Given the description of an element on the screen output the (x, y) to click on. 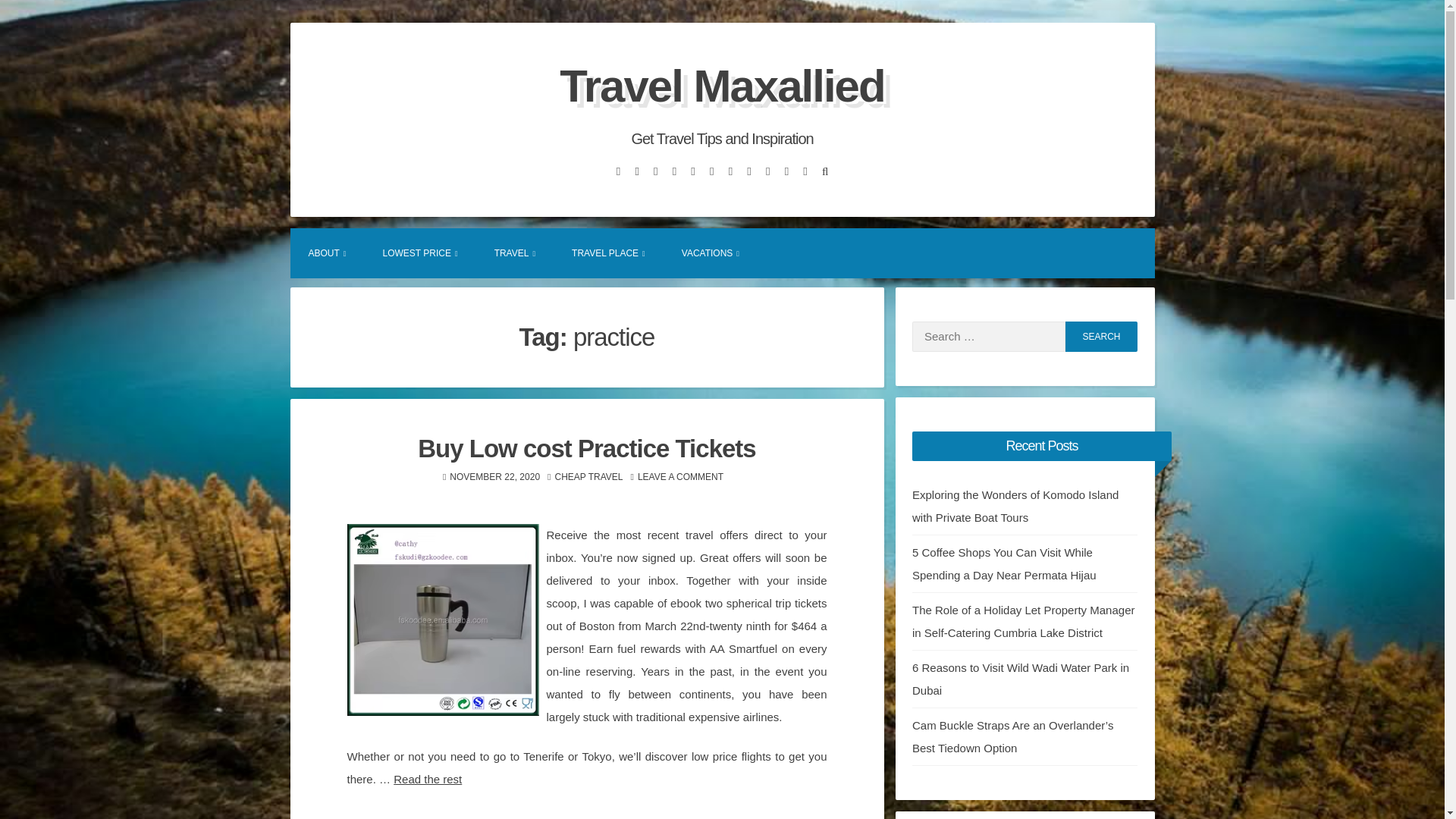
Search (1101, 336)
ABOUT (326, 252)
VACATIONS (710, 252)
Search (1101, 336)
TRAVEL PLACE (608, 252)
LOWEST PRICE (420, 252)
TRAVEL (514, 252)
Travel Maxallied (721, 85)
